Given the description of an element on the screen output the (x, y) to click on. 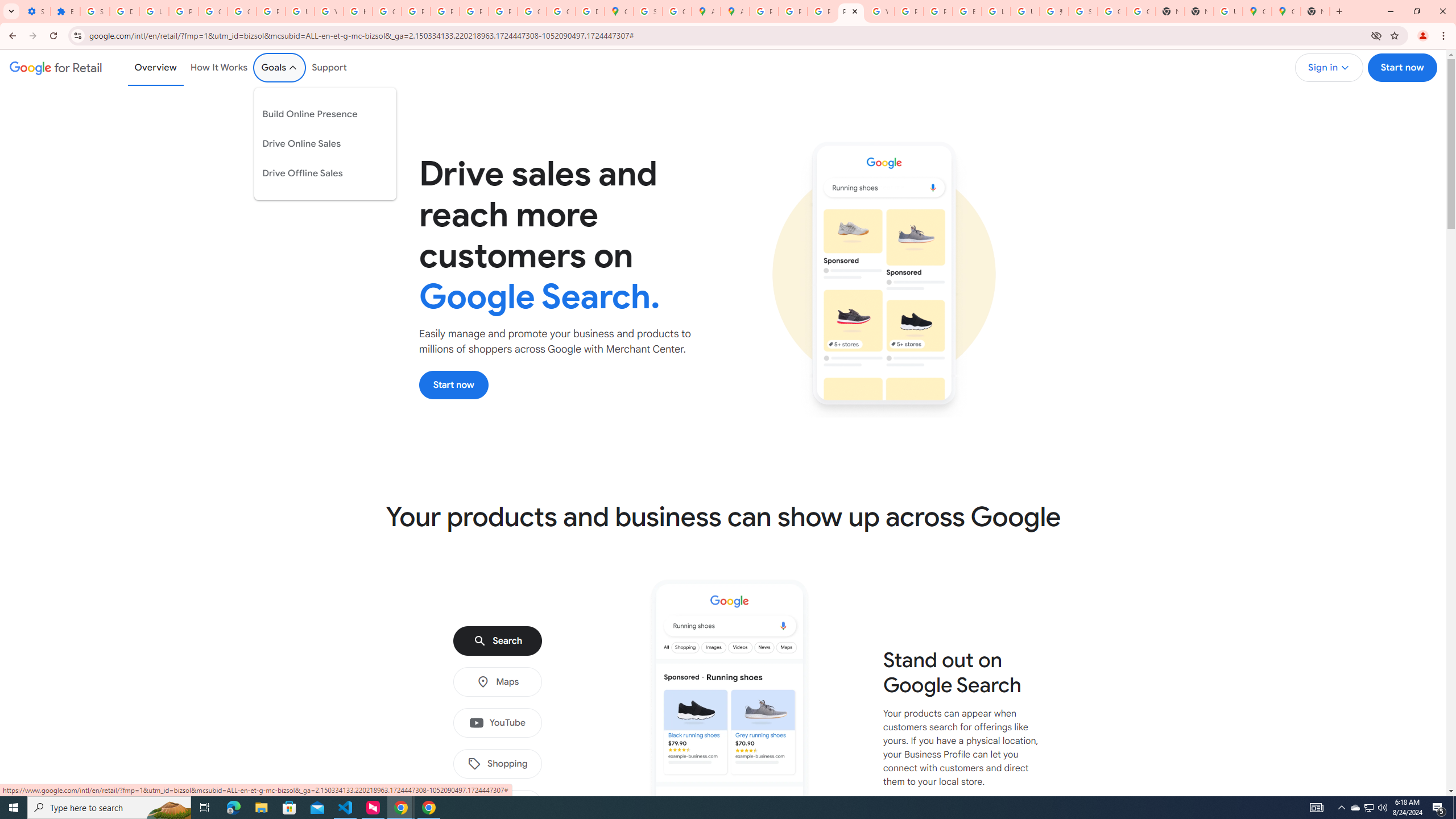
Extensions (65, 11)
Shopping (496, 763)
Create your Google Account (677, 11)
How It Works (218, 67)
Goals (279, 67)
Goals (279, 67)
New Tab (1315, 11)
Google Maps (1256, 11)
Build Online Presence (317, 113)
